Given the description of an element on the screen output the (x, y) to click on. 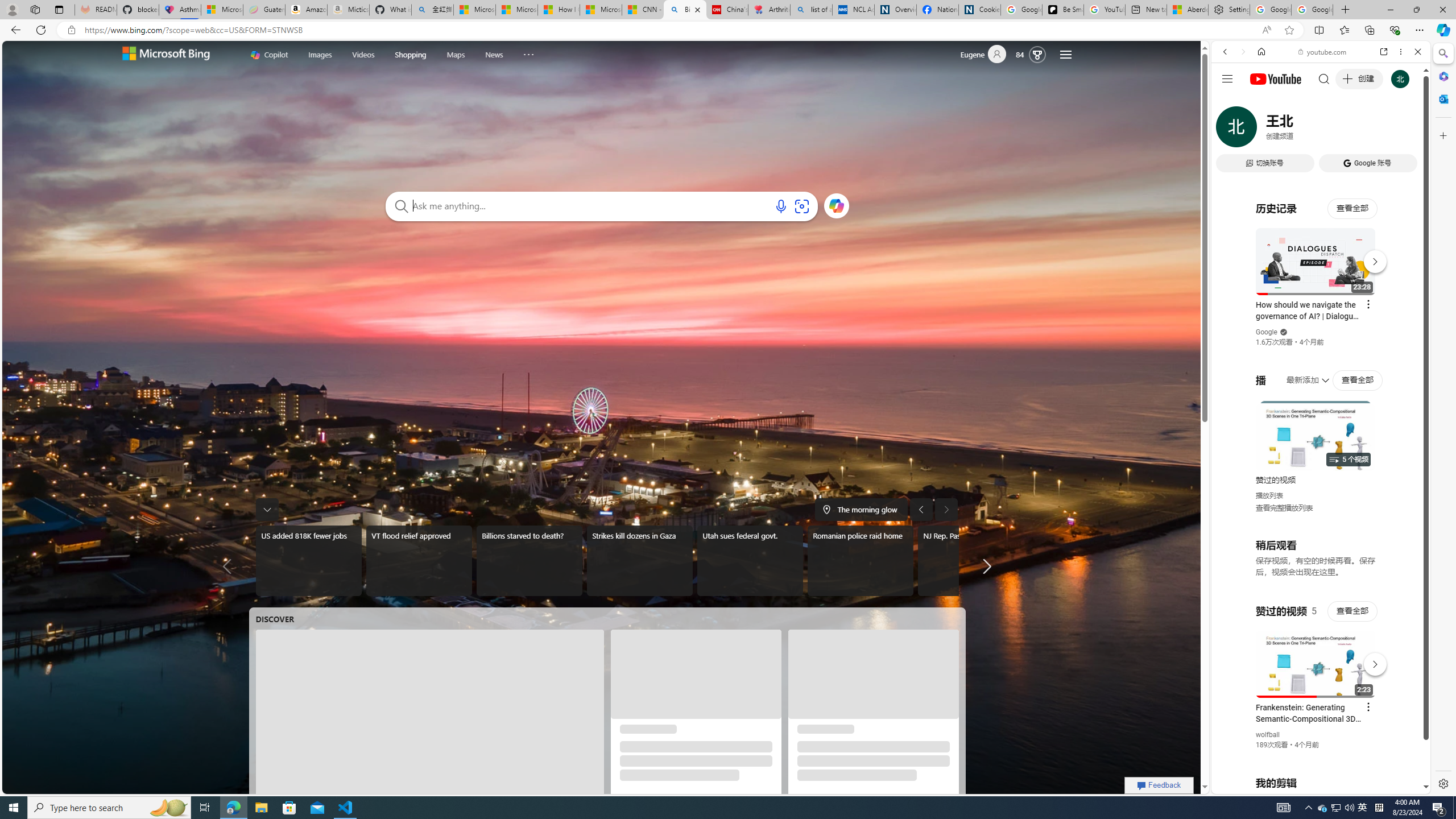
AutomationID: rh_meter (1037, 54)
Videos (363, 54)
Maps (455, 54)
